Given the description of an element on the screen output the (x, y) to click on. 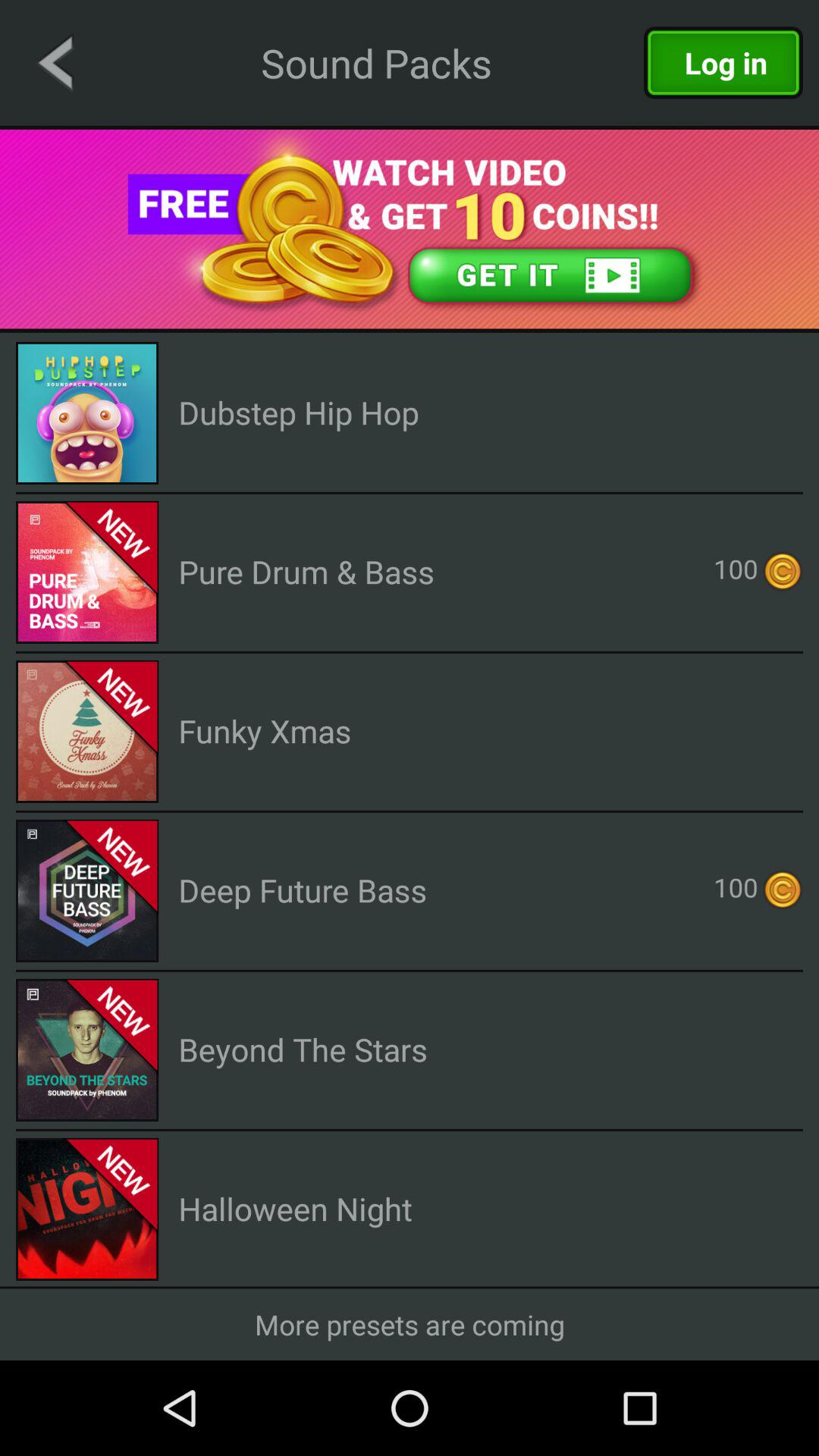
open advertisement (409, 228)
